Given the description of an element on the screen output the (x, y) to click on. 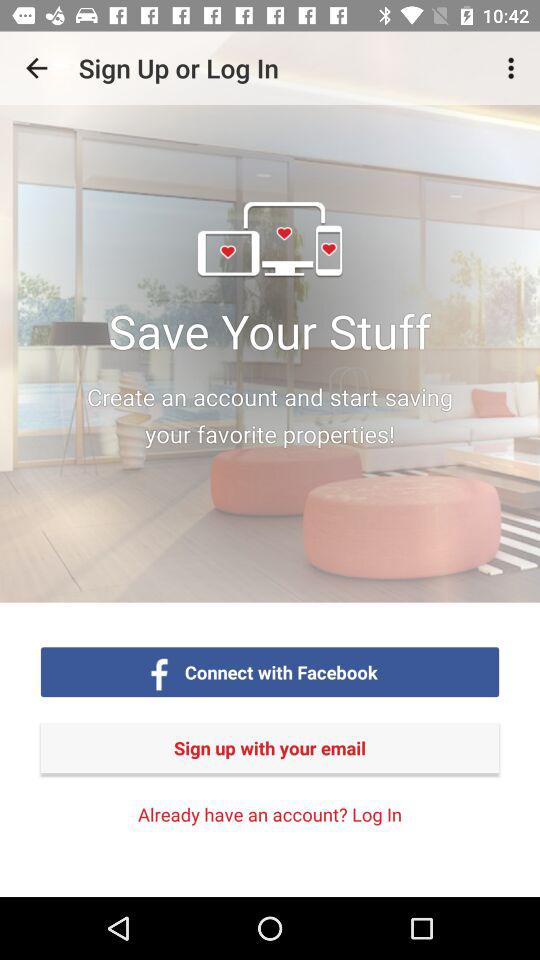
tap item above sign up with item (281, 672)
